Given the description of an element on the screen output the (x, y) to click on. 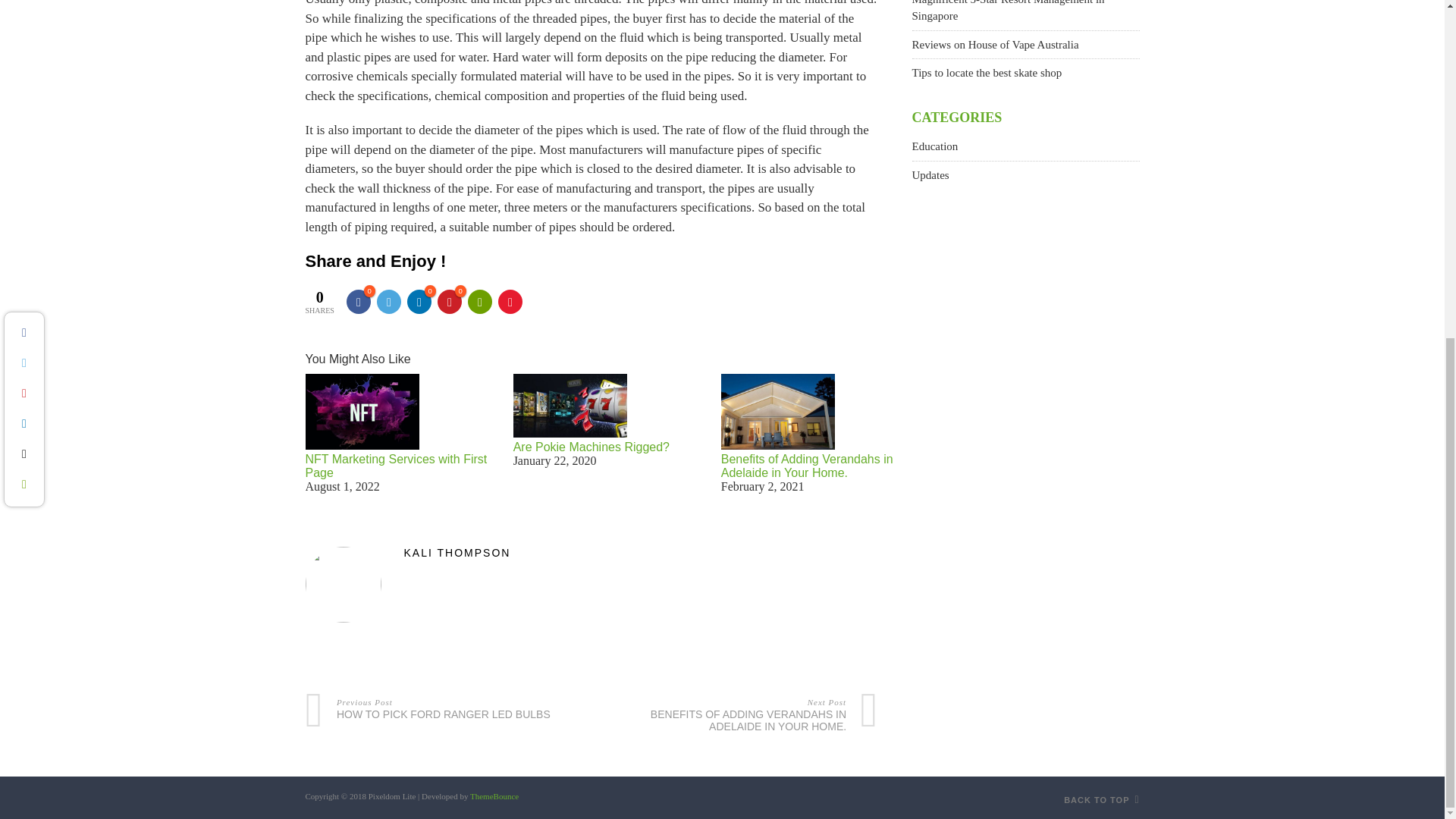
0 (418, 301)
Tweet this ! (389, 301)
0 (449, 301)
Posts by Kali Thompson (590, 552)
Add this to LinkedIn (418, 301)
Convert to PDF (509, 301)
0 (358, 301)
KALI THOMPSON (590, 552)
Updates (930, 174)
